Given the description of an element on the screen output the (x, y) to click on. 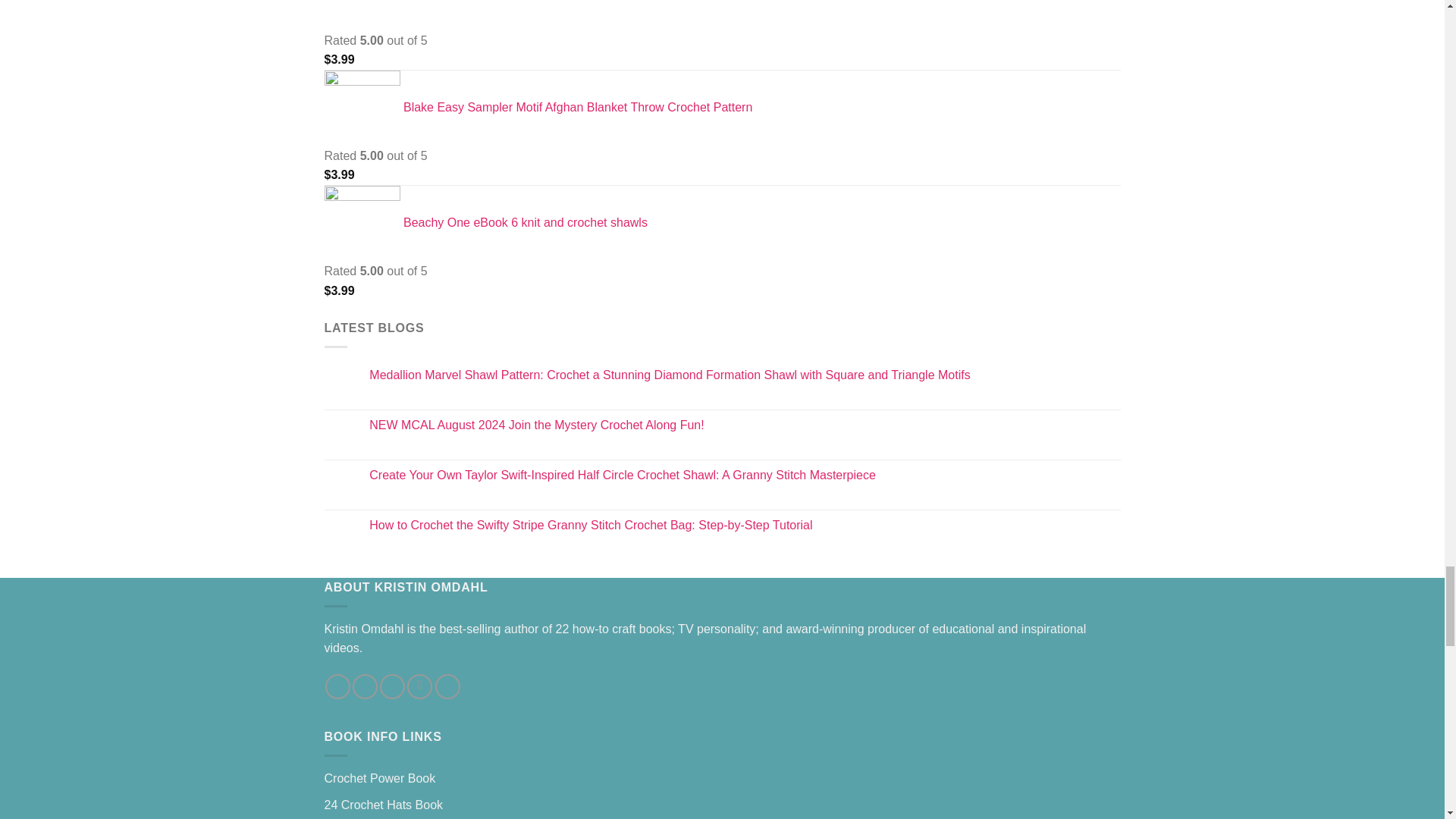
NEW MCAL August 2024 Join the Mystery Crochet Along Fun! (744, 424)
